Given the description of an element on the screen output the (x, y) to click on. 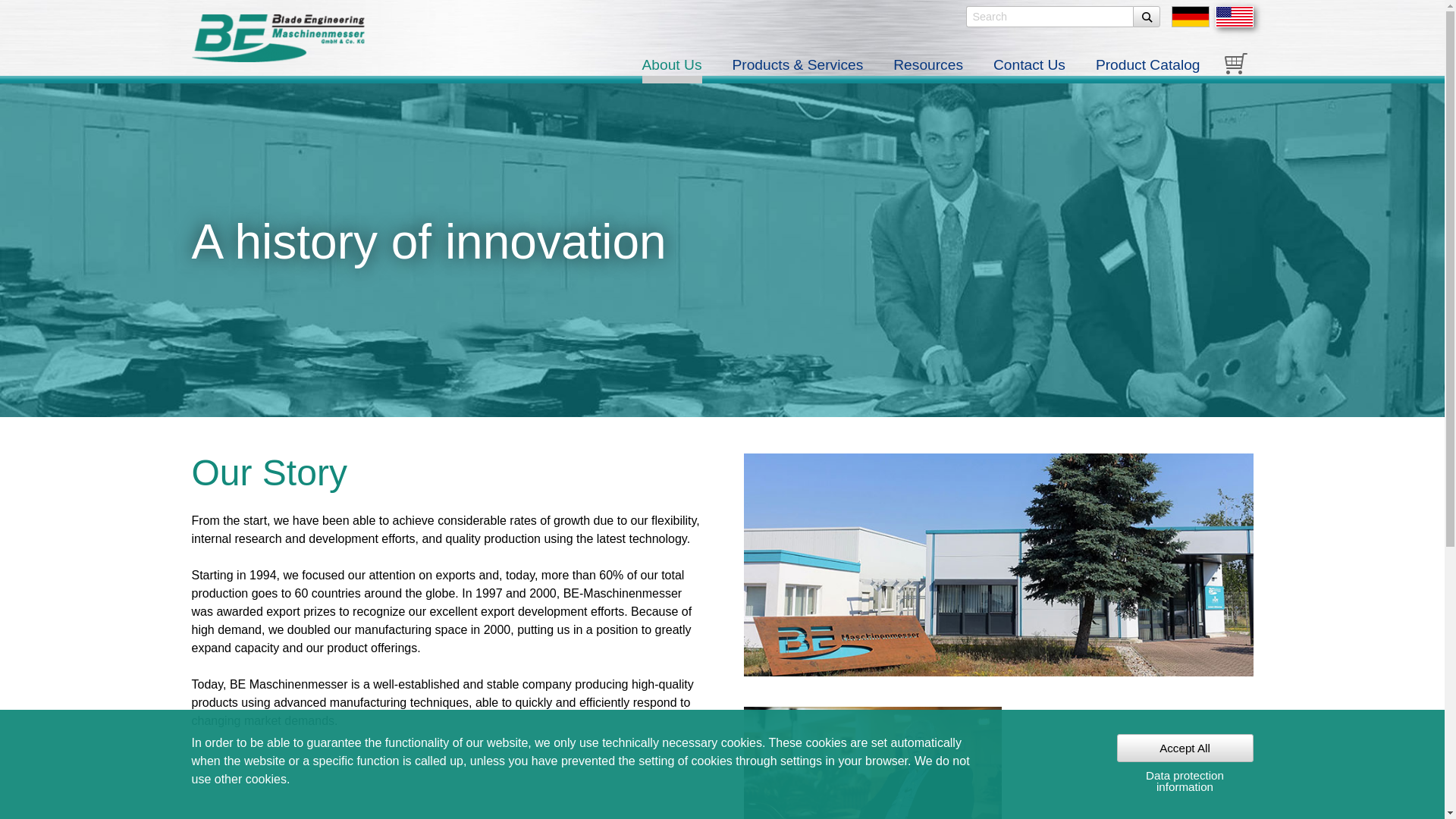
Resources (927, 68)
Contact Us (1029, 68)
Product Catalog (1139, 68)
About Us (672, 68)
